Given the description of an element on the screen output the (x, y) to click on. 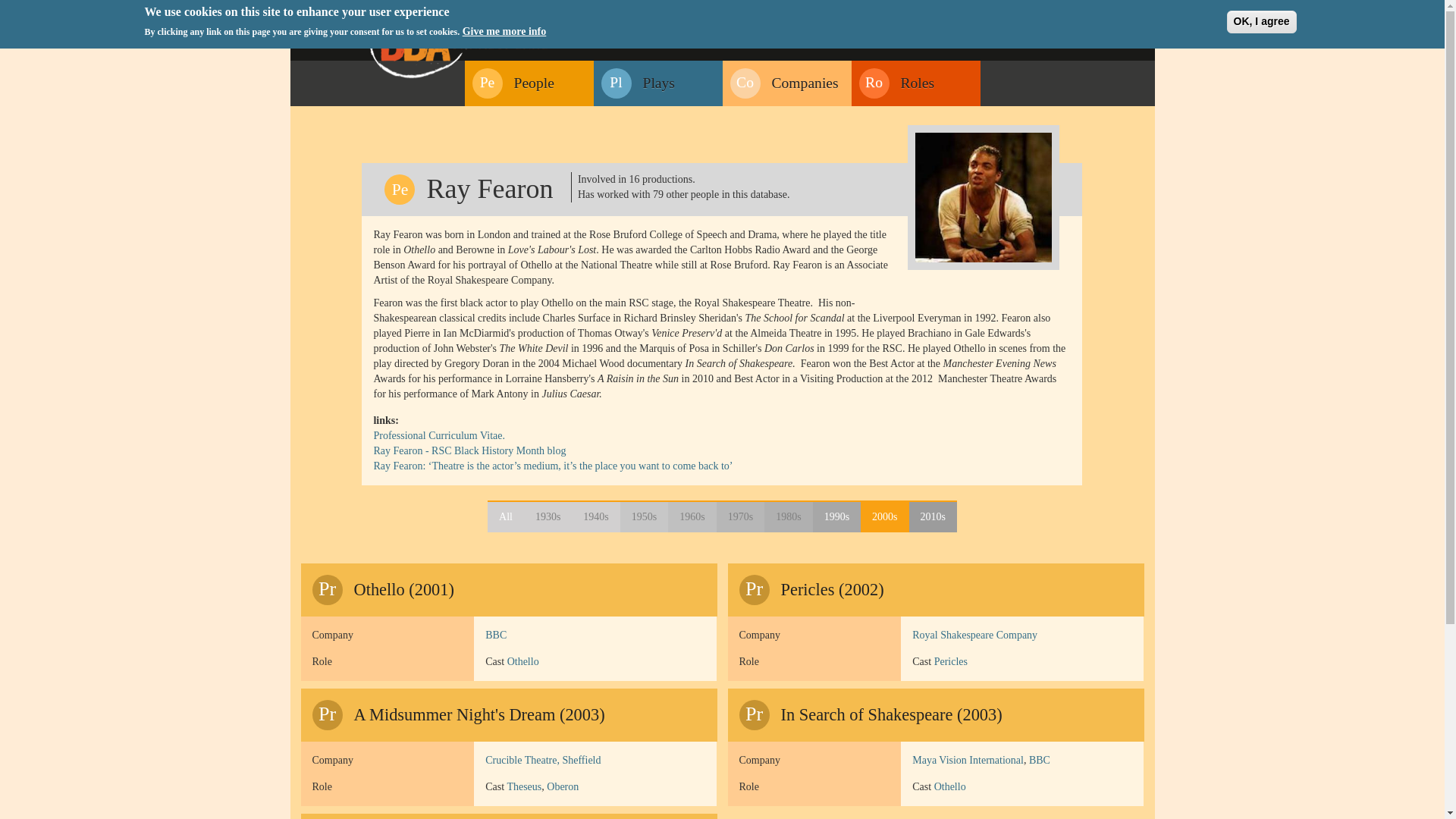
1950s (644, 517)
1990s (836, 517)
2000s (884, 517)
1980s (788, 517)
Home (458, 43)
OK, I agree (1262, 21)
1930s (548, 517)
About the databse (989, 12)
How to use (512, 82)
Royal Shakespeare Company (1040, 12)
Professional Curriculum Vitae. (974, 634)
All (437, 435)
How to use the database (505, 517)
